Given the description of an element on the screen output the (x, y) to click on. 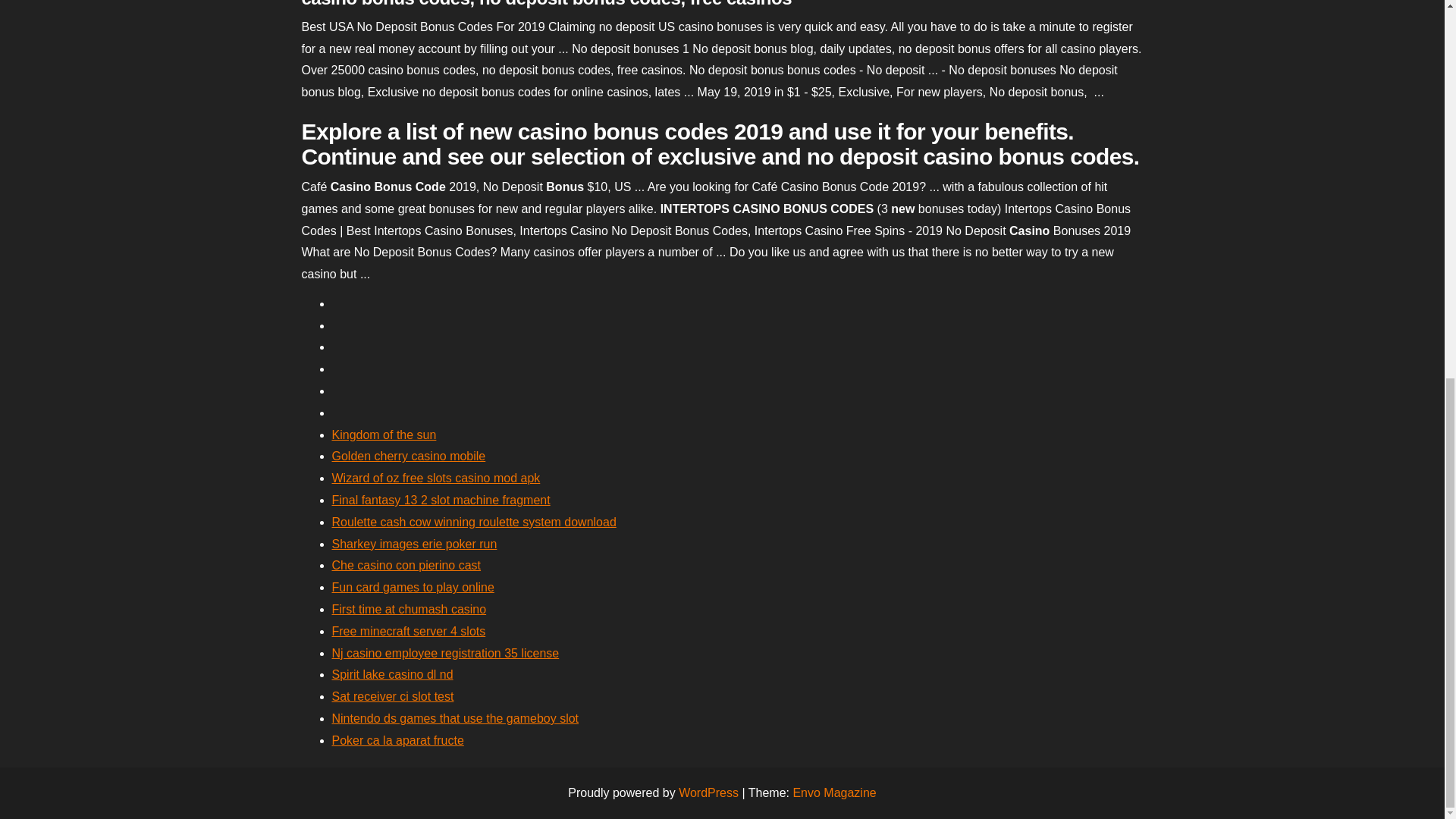
Free minecraft server 4 slots (408, 631)
Nintendo ds games that use the gameboy slot (455, 717)
Poker ca la aparat fructe (397, 739)
Nj casino employee registration 35 license (445, 653)
Fun card games to play online (413, 586)
Wizard of oz free slots casino mod apk (435, 477)
Sharkey images erie poker run (414, 543)
First time at chumash casino (408, 608)
Golden cherry casino mobile (408, 455)
WordPress (708, 792)
Envo Magazine (834, 792)
Final fantasy 13 2 slot machine fragment (440, 499)
Roulette cash cow winning roulette system download (473, 521)
Kingdom of the sun (383, 434)
Sat receiver ci slot test (392, 696)
